Given the description of an element on the screen output the (x, y) to click on. 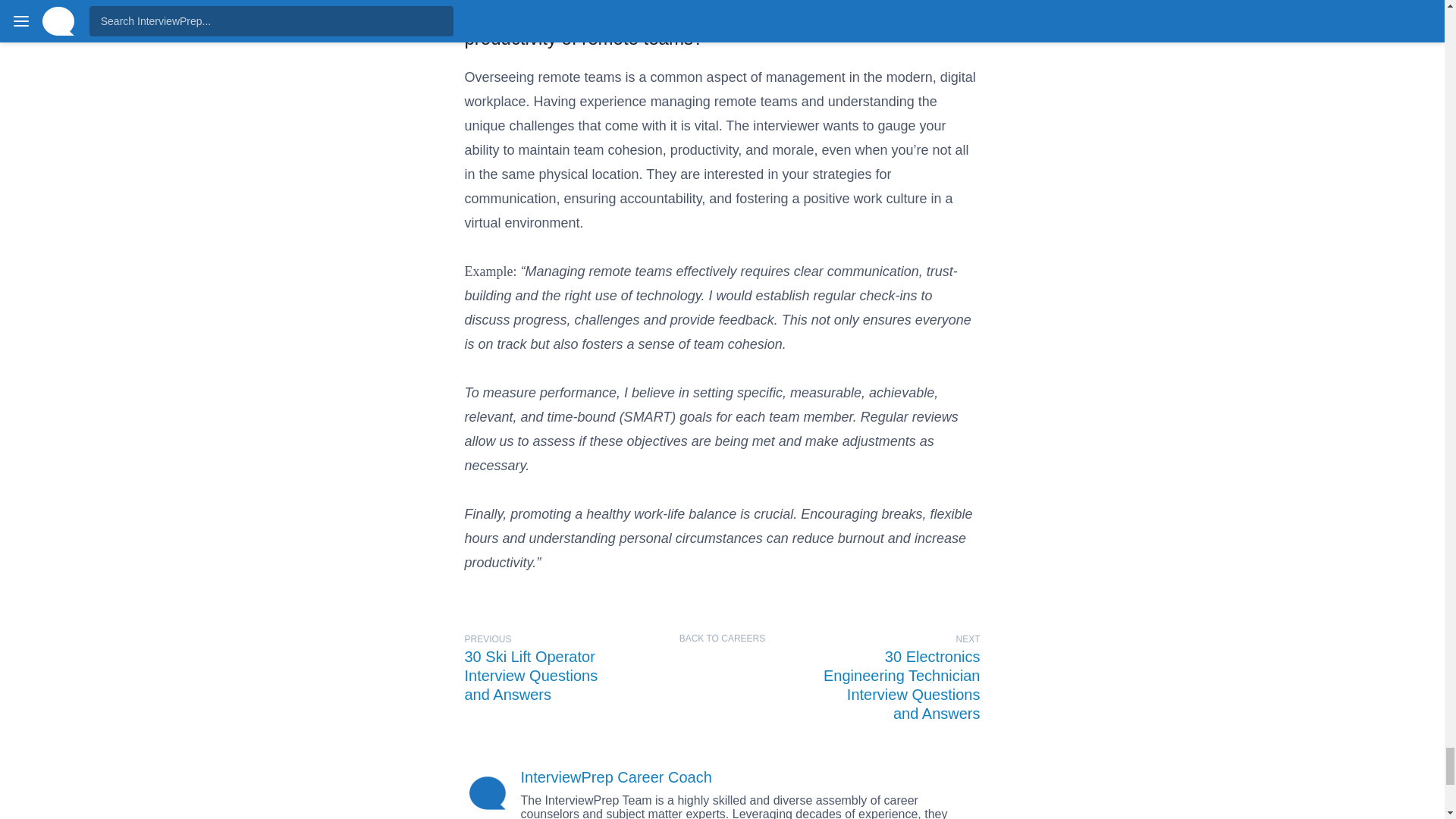
BACK TO CAREERS (722, 638)
InterviewPrep Career Coach (615, 777)
